Given the description of an element on the screen output the (x, y) to click on. 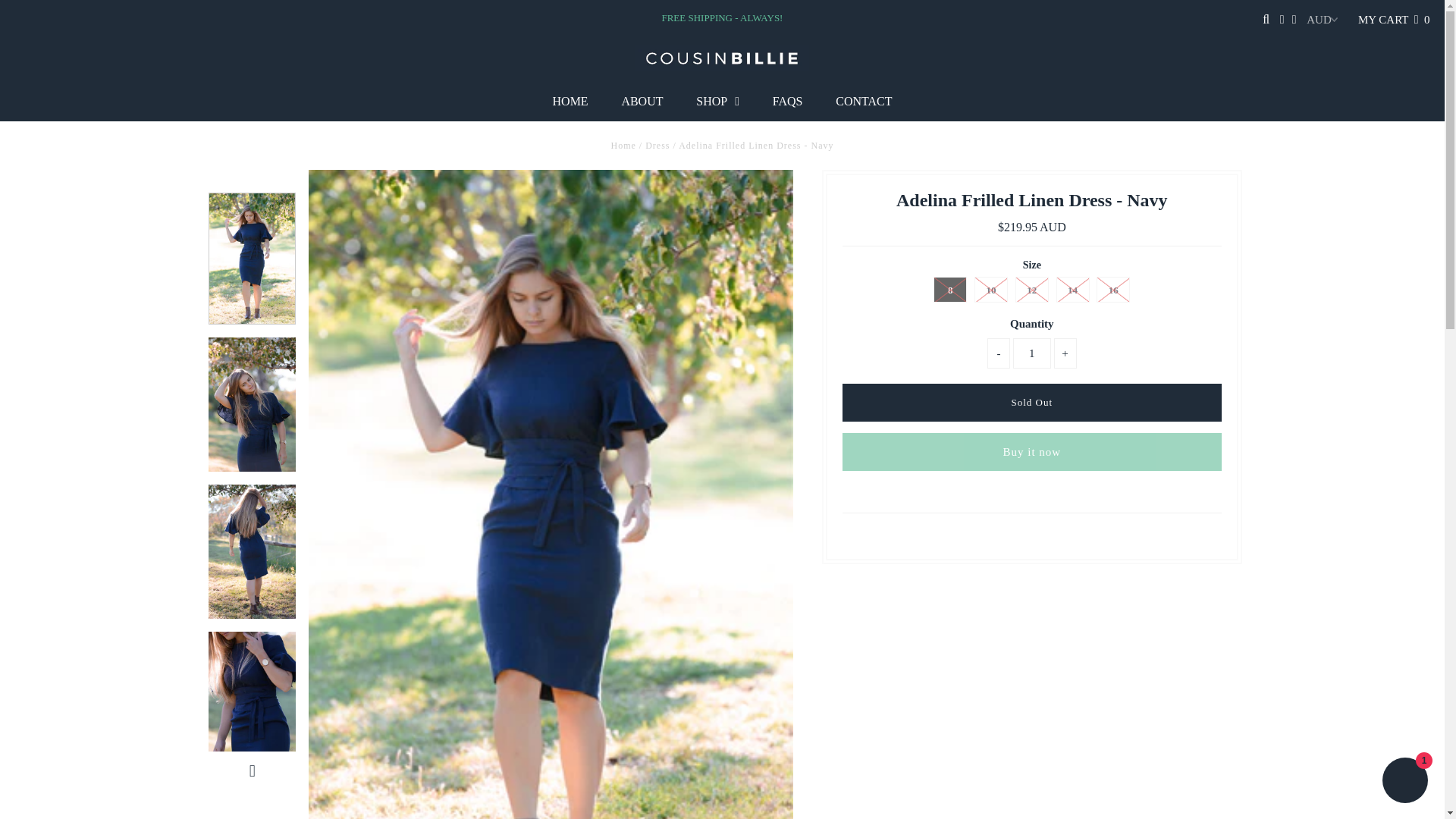
Buy it now (1032, 451)
Sold Out (1032, 402)
HOME (570, 101)
SHOP (717, 101)
ABOUT (641, 101)
Dress (657, 145)
Home (623, 145)
Dress (657, 145)
MY CART    0 (1393, 19)
FAQS (787, 101)
FREE SHIPPING - ALWAYS! (722, 17)
CONTACT (864, 101)
1 (1032, 353)
Sold Out (1032, 402)
Home (623, 145)
